Given the description of an element on the screen output the (x, y) to click on. 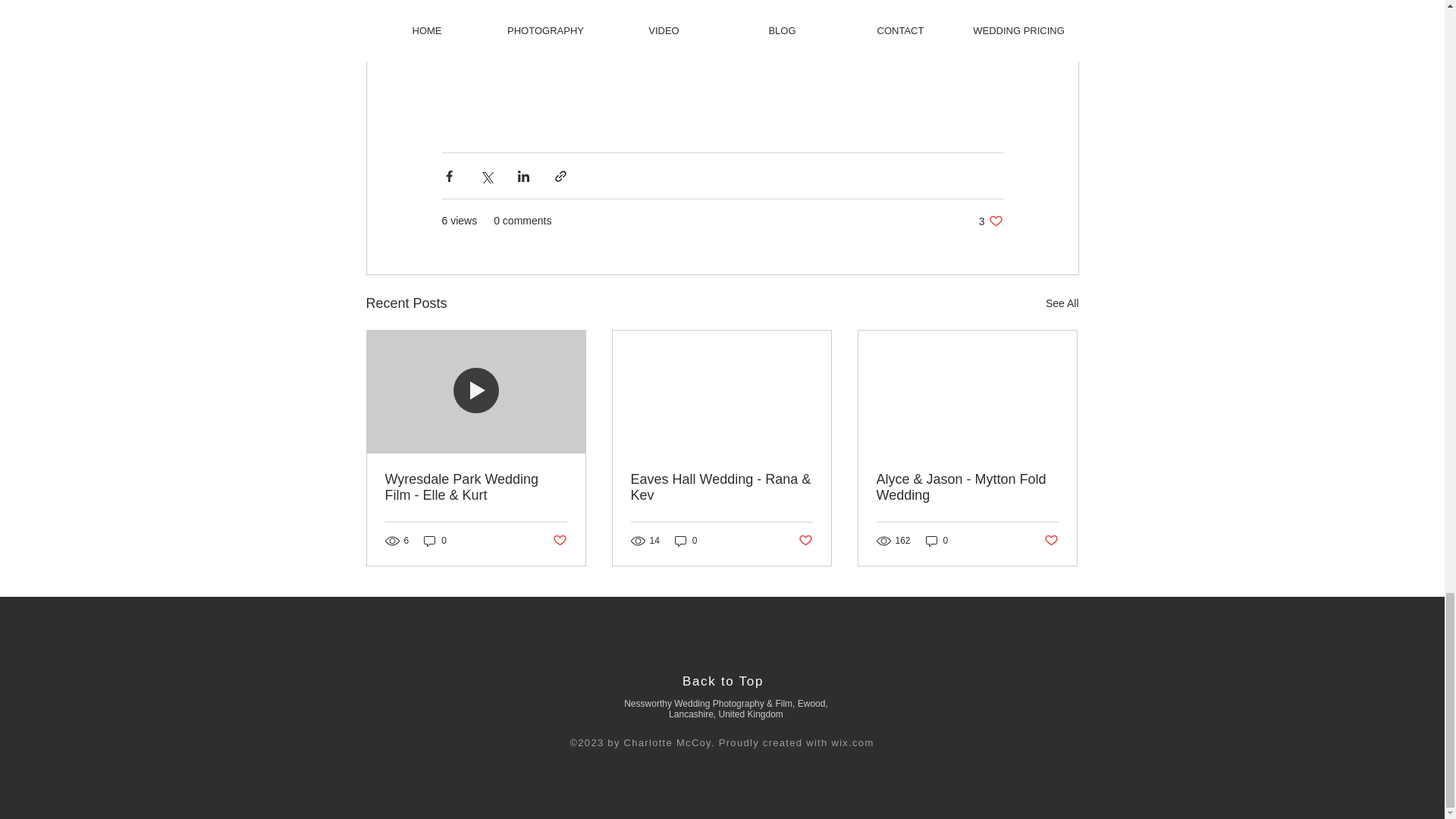
0 (685, 540)
0 (435, 540)
Post not marked as liked (1050, 540)
Post not marked as liked (558, 540)
0 (937, 540)
See All (1061, 303)
Back to Top (722, 681)
wix.com (852, 742)
Post not marked as liked (804, 540)
